Given the description of an element on the screen output the (x, y) to click on. 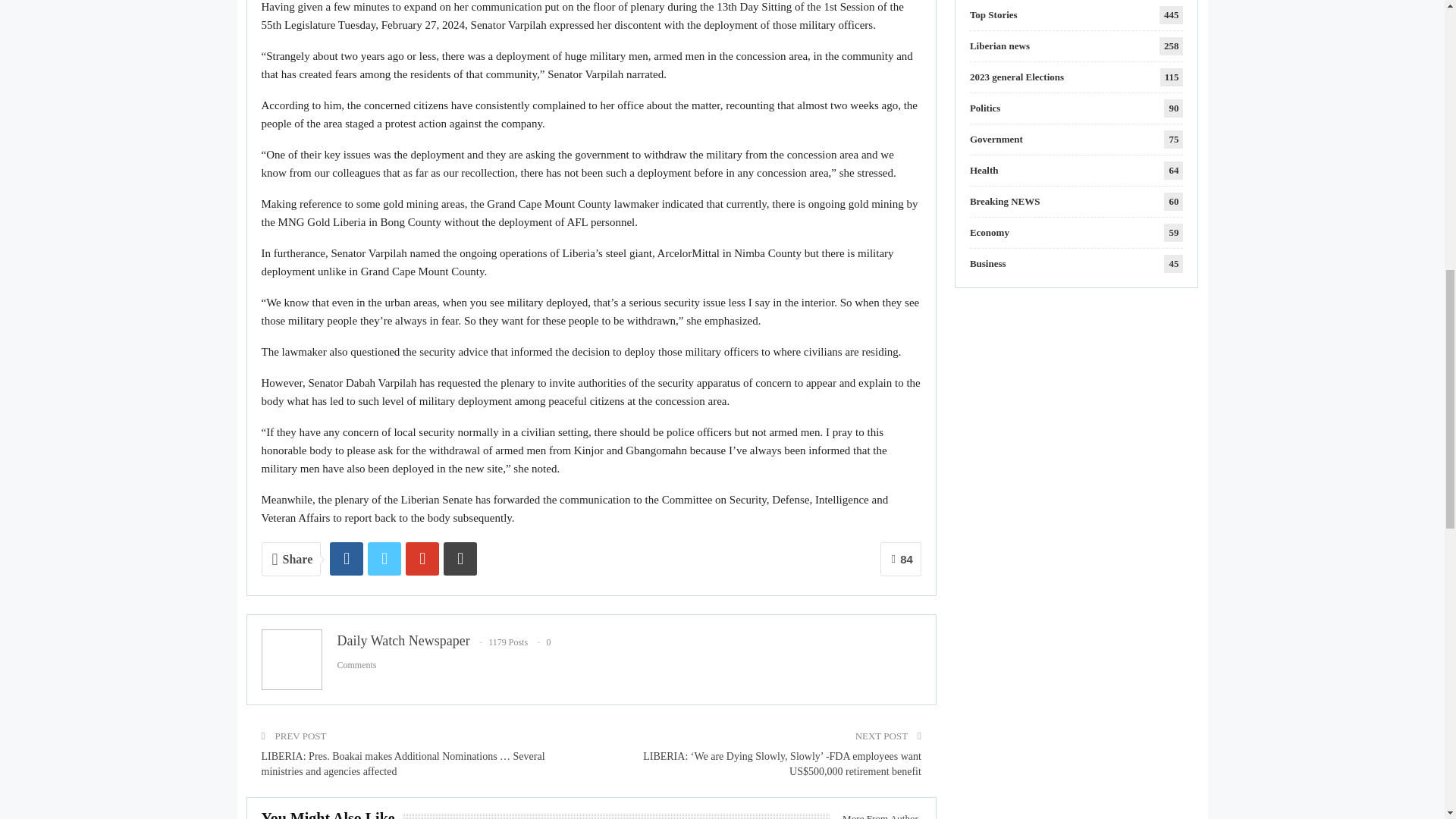
Daily Watch Newspaper (402, 640)
You Might Also Like (330, 816)
More From Author (875, 814)
